Given the description of an element on the screen output the (x, y) to click on. 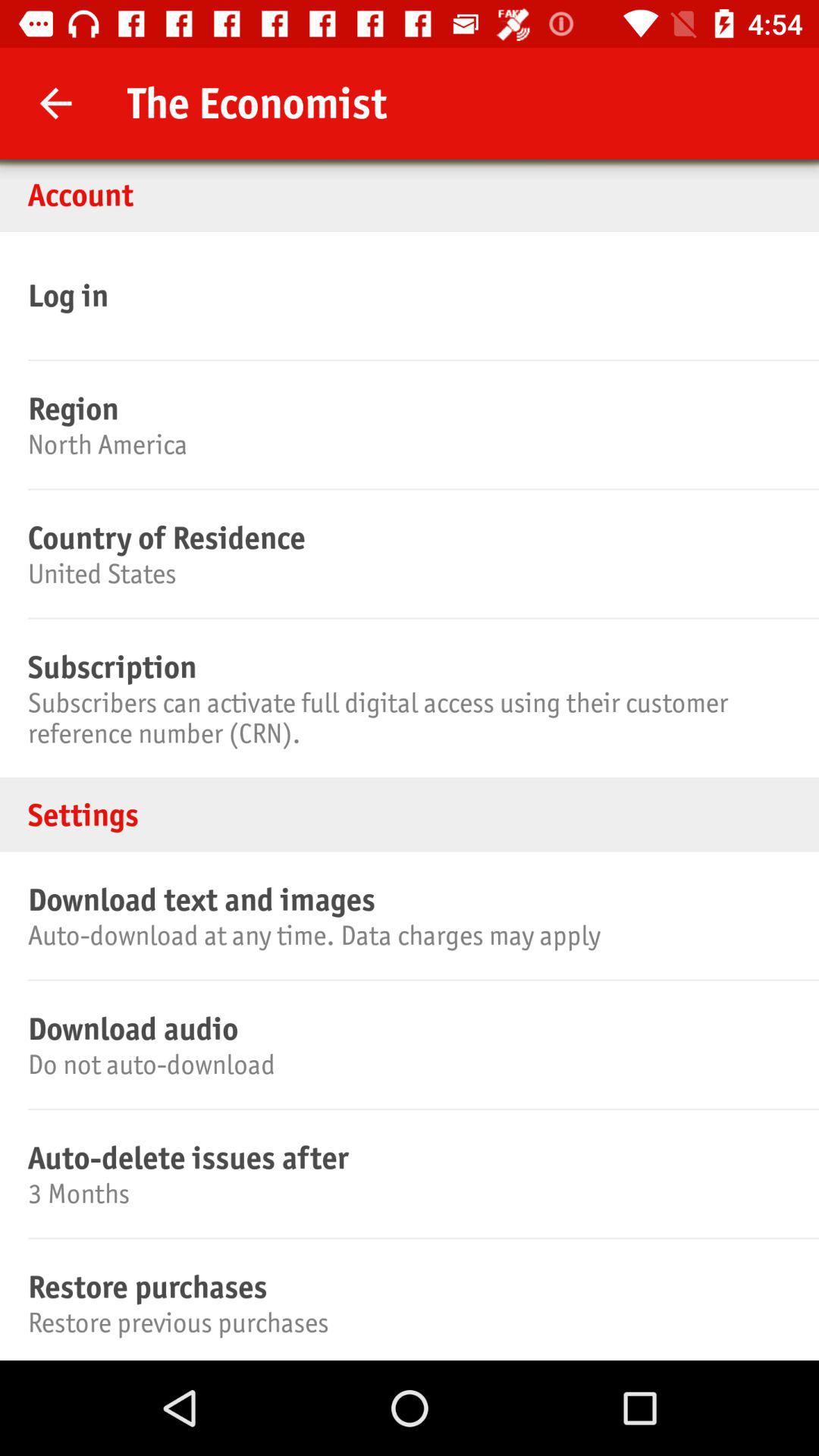
tap item above north america icon (407, 408)
